Given the description of an element on the screen output the (x, y) to click on. 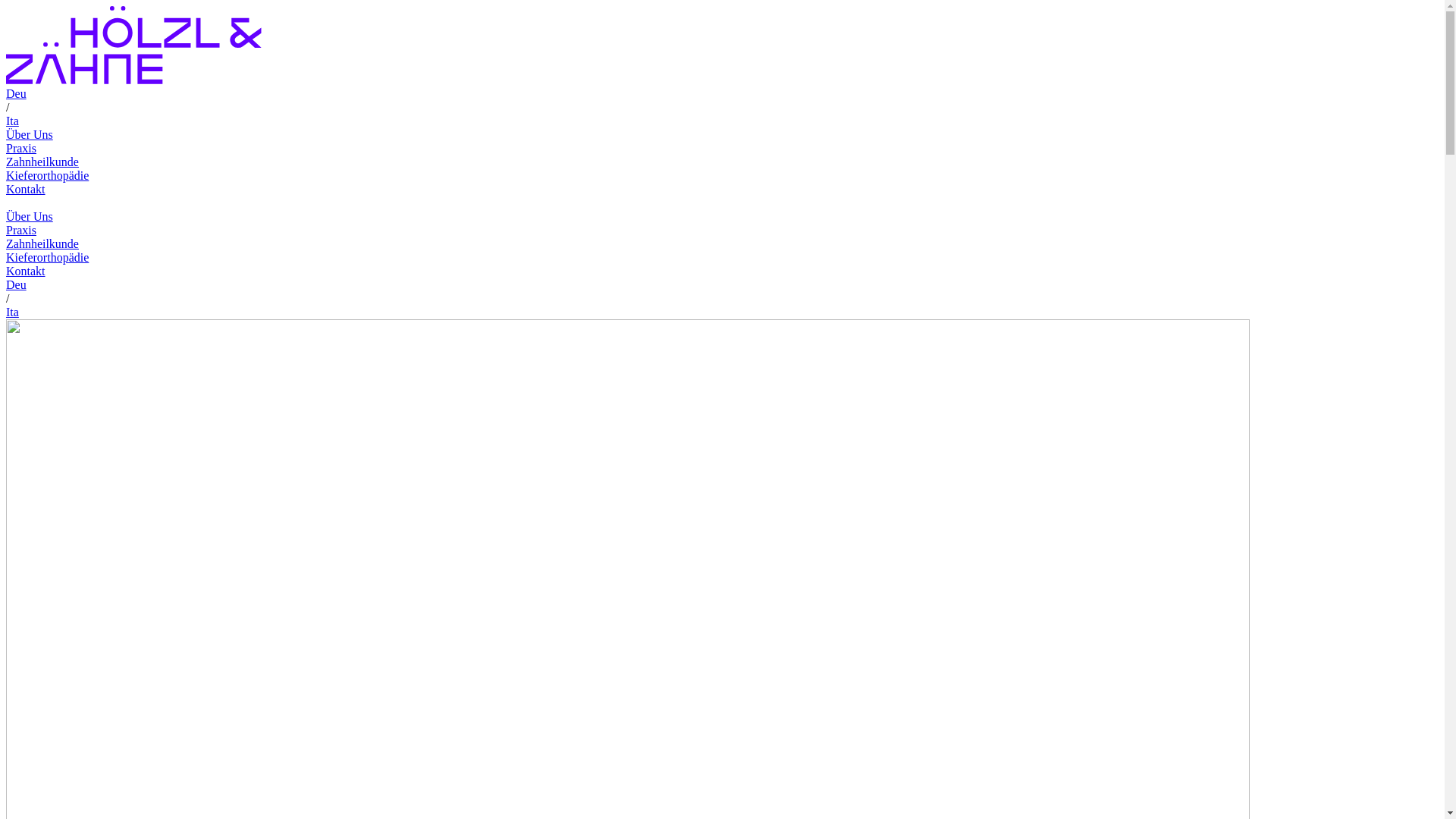
Kontakt Element type: text (25, 270)
Ita Element type: text (12, 120)
Deu Element type: text (16, 284)
Zahnheilkunde Element type: text (42, 161)
Praxis Element type: text (21, 147)
Ita Element type: text (12, 311)
Praxis Element type: text (21, 229)
Deu Element type: text (16, 93)
Zahnheilkunde Element type: text (42, 243)
Kontakt Element type: text (25, 188)
